Given the description of an element on the screen output the (x, y) to click on. 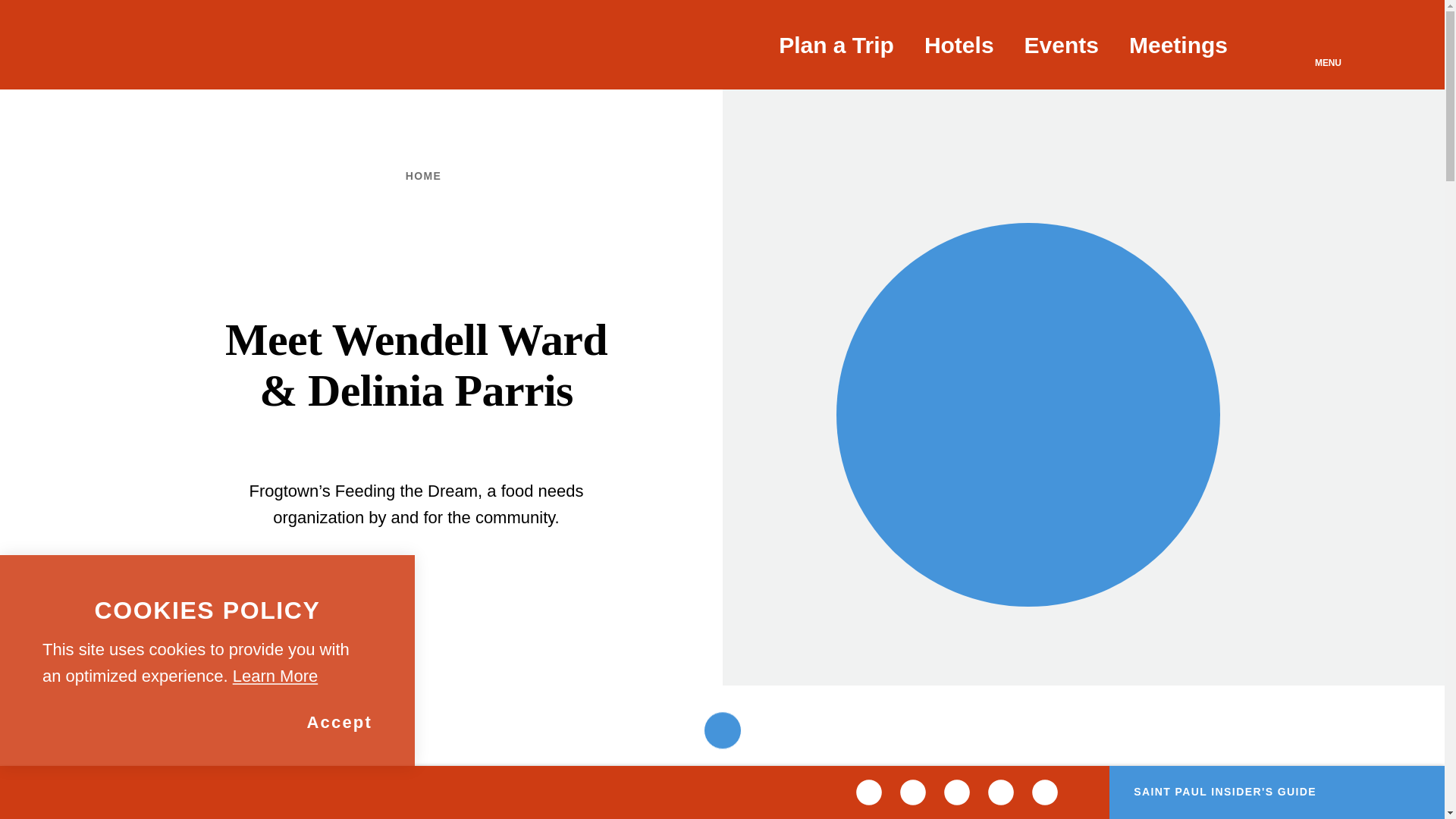
Events (1062, 43)
HOME (419, 176)
Plan a Trip (835, 43)
Meetings (1178, 43)
Skip to content (17, 15)
Hotels (959, 43)
